Given the description of an element on the screen output the (x, y) to click on. 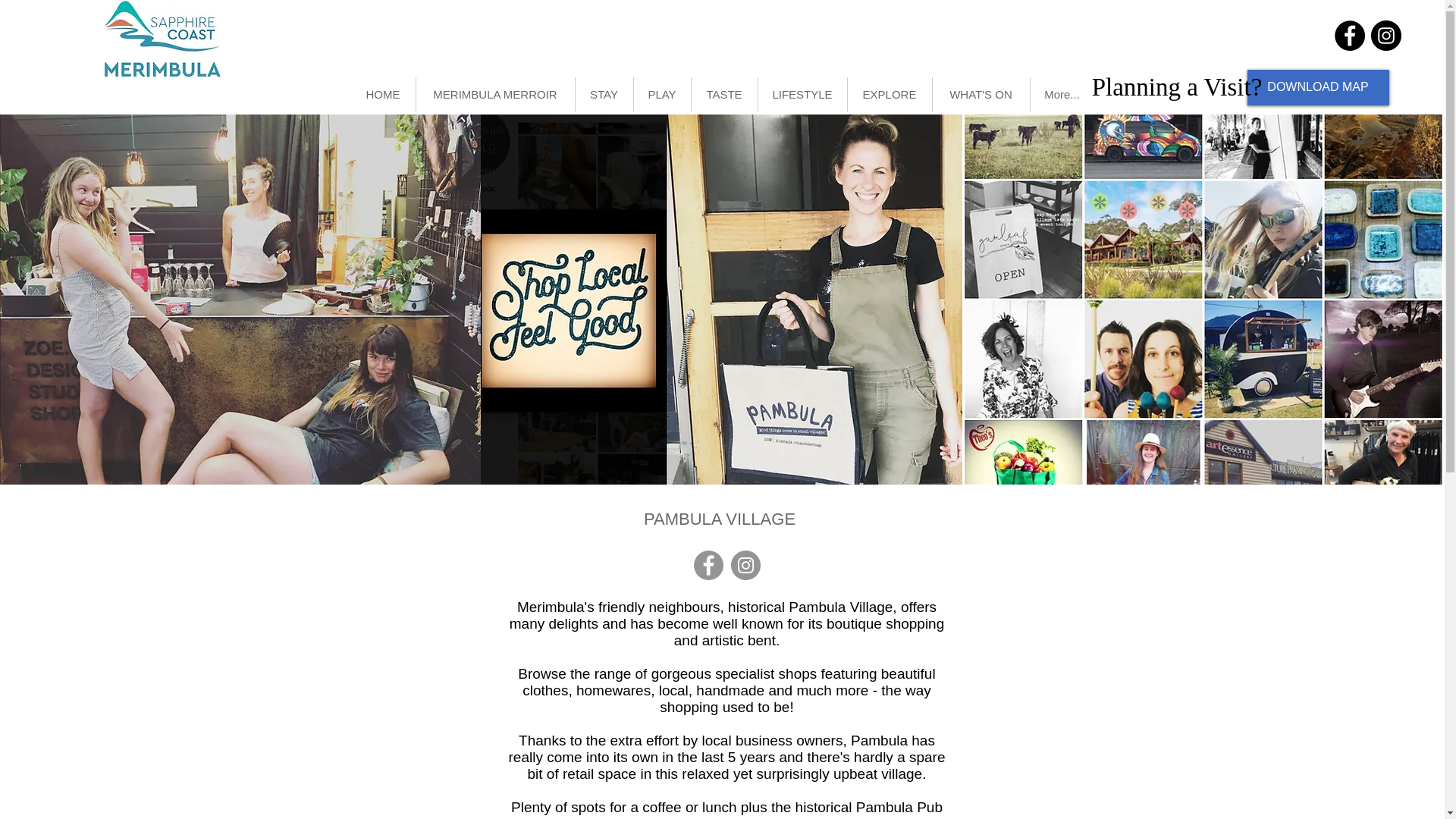
STAY (603, 93)
TASTE (724, 93)
WHAT'S ON (981, 93)
LIFESTYLE (802, 93)
PLAY (661, 93)
HOME (382, 93)
MERIMBULA MERROIR (493, 93)
EXPLORE (889, 93)
